Given the description of an element on the screen output the (x, y) to click on. 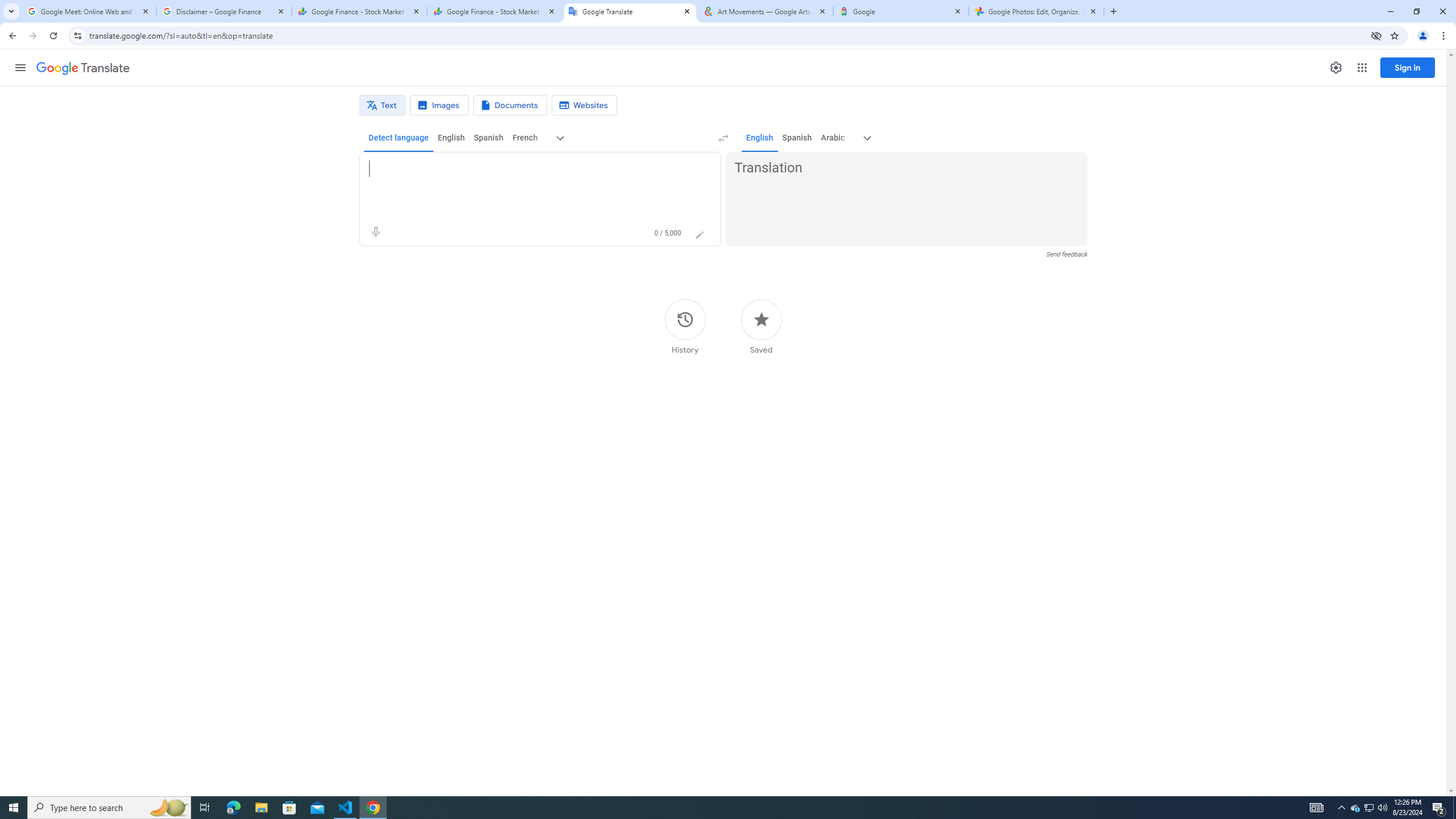
Website translation (584, 105)
English (759, 137)
Translate by voice (375, 231)
Send feedback (1066, 253)
Spanish (796, 137)
Document translation (510, 105)
Text translation (382, 105)
More target languages (867, 137)
Detect language (398, 137)
